Given the description of an element on the screen output the (x, y) to click on. 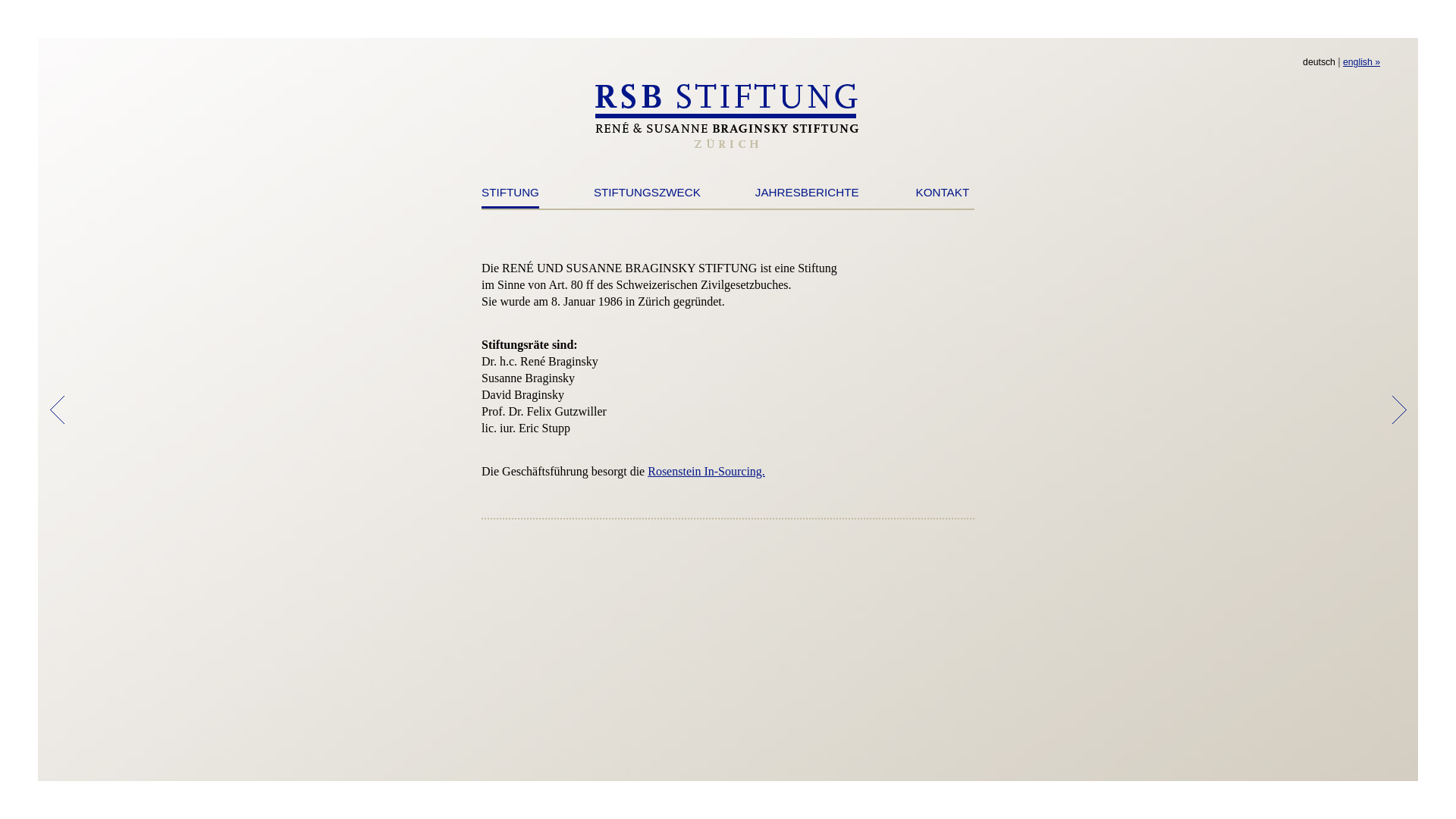
STIFTUNG Element type: text (510, 196)
KONTAKT Element type: text (942, 195)
Rosenstein In-Sourcing. Element type: text (706, 470)
STIFTUNGSZWECK Element type: text (646, 195)
JAHRESBERICHTE Element type: text (807, 195)
